Given the description of an element on the screen output the (x, y) to click on. 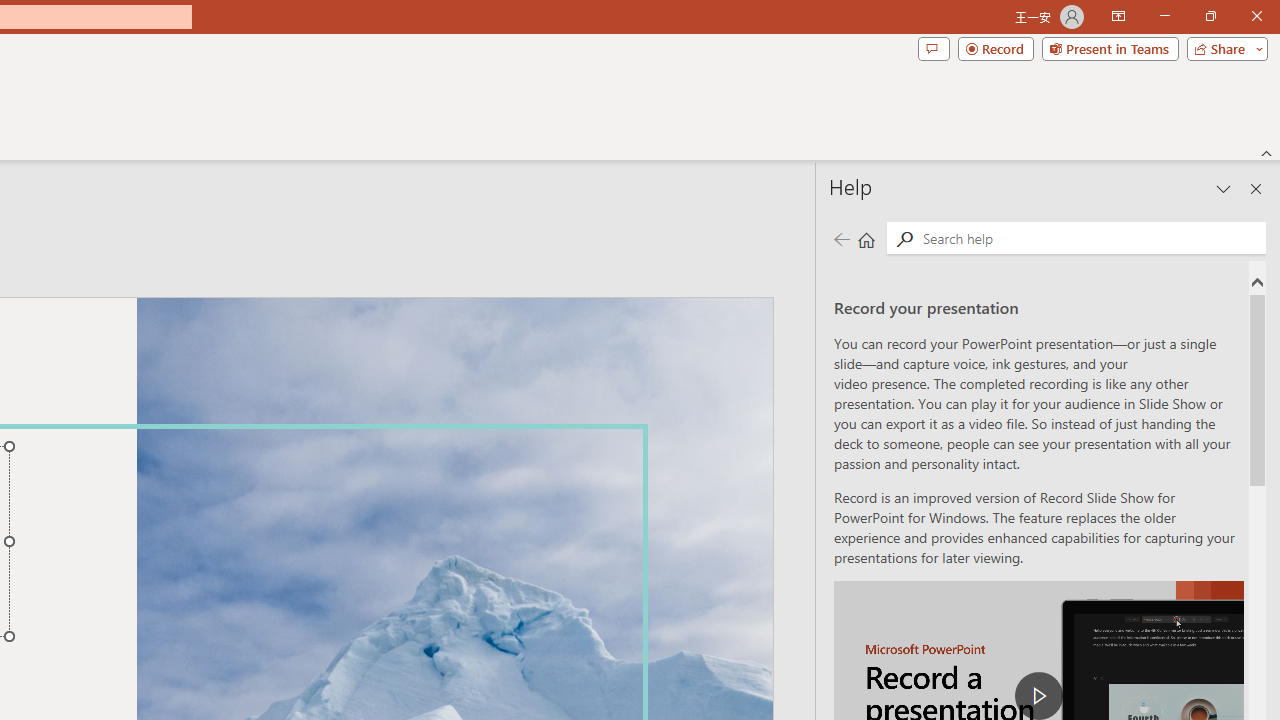
play Record a Presentation (1038, 695)
